Given the description of an element on the screen output the (x, y) to click on. 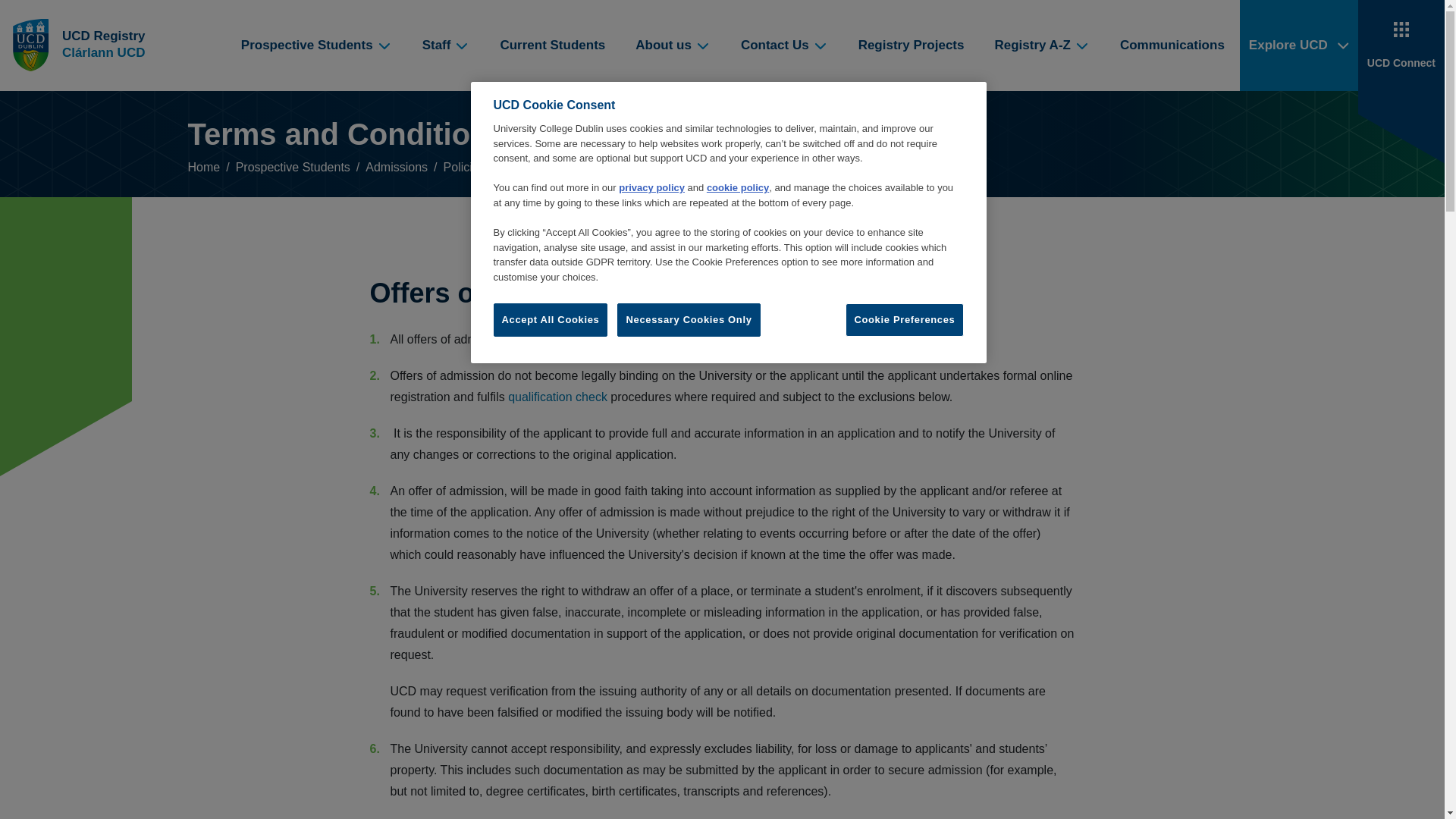
Explore UCD (1299, 45)
Prospective Students (316, 45)
Contact Us (784, 45)
Go to 'Explore' page (1299, 45)
About us (672, 45)
Registry Projects (911, 45)
Communications (1172, 45)
Registry A-Z (1040, 45)
Current Students (552, 45)
Go to 'Home' page (105, 45)
